Given the description of an element on the screen output the (x, y) to click on. 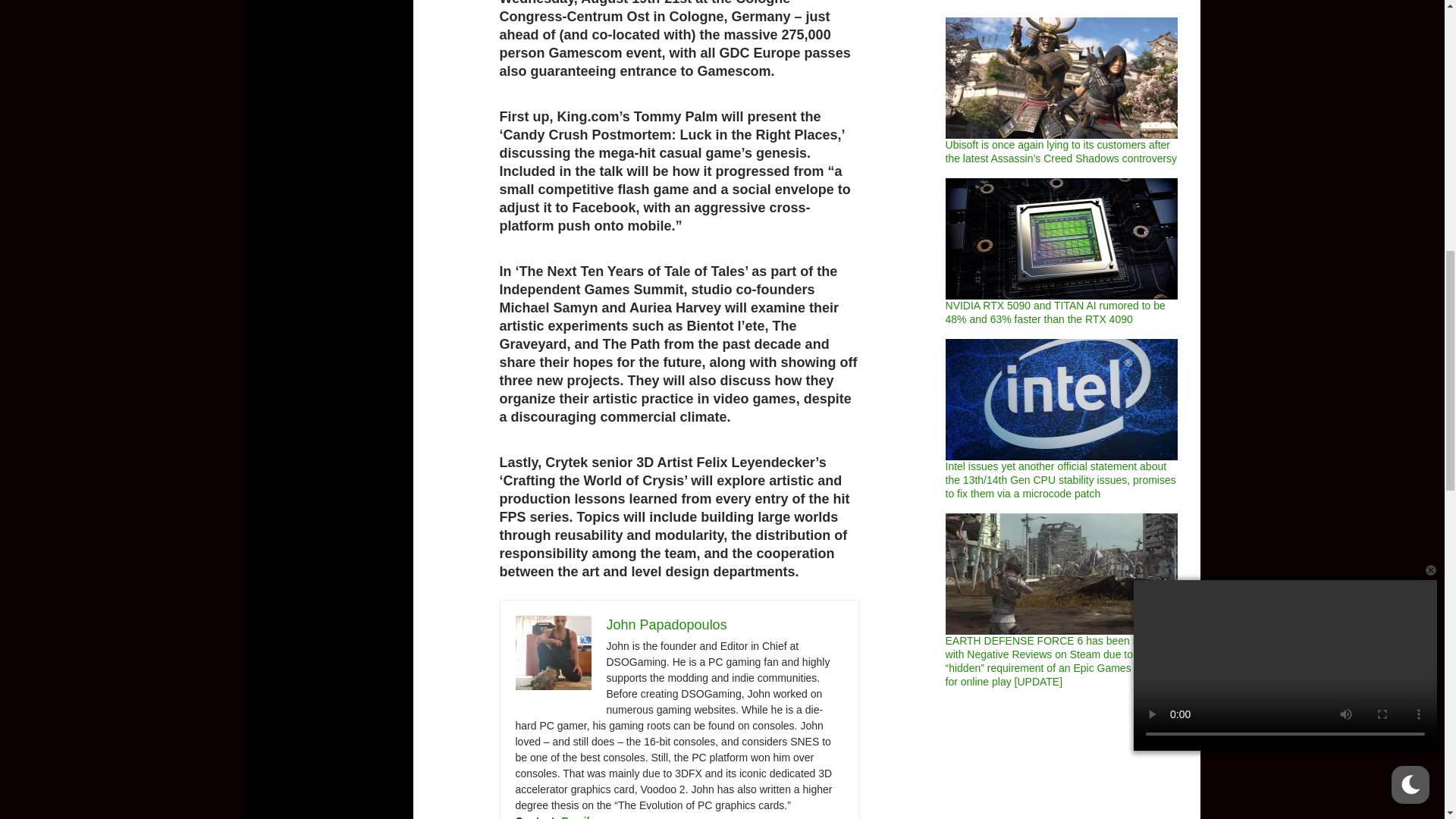
John Papadopoulos (666, 624)
Email (574, 816)
